Given the description of an element on the screen output the (x, y) to click on. 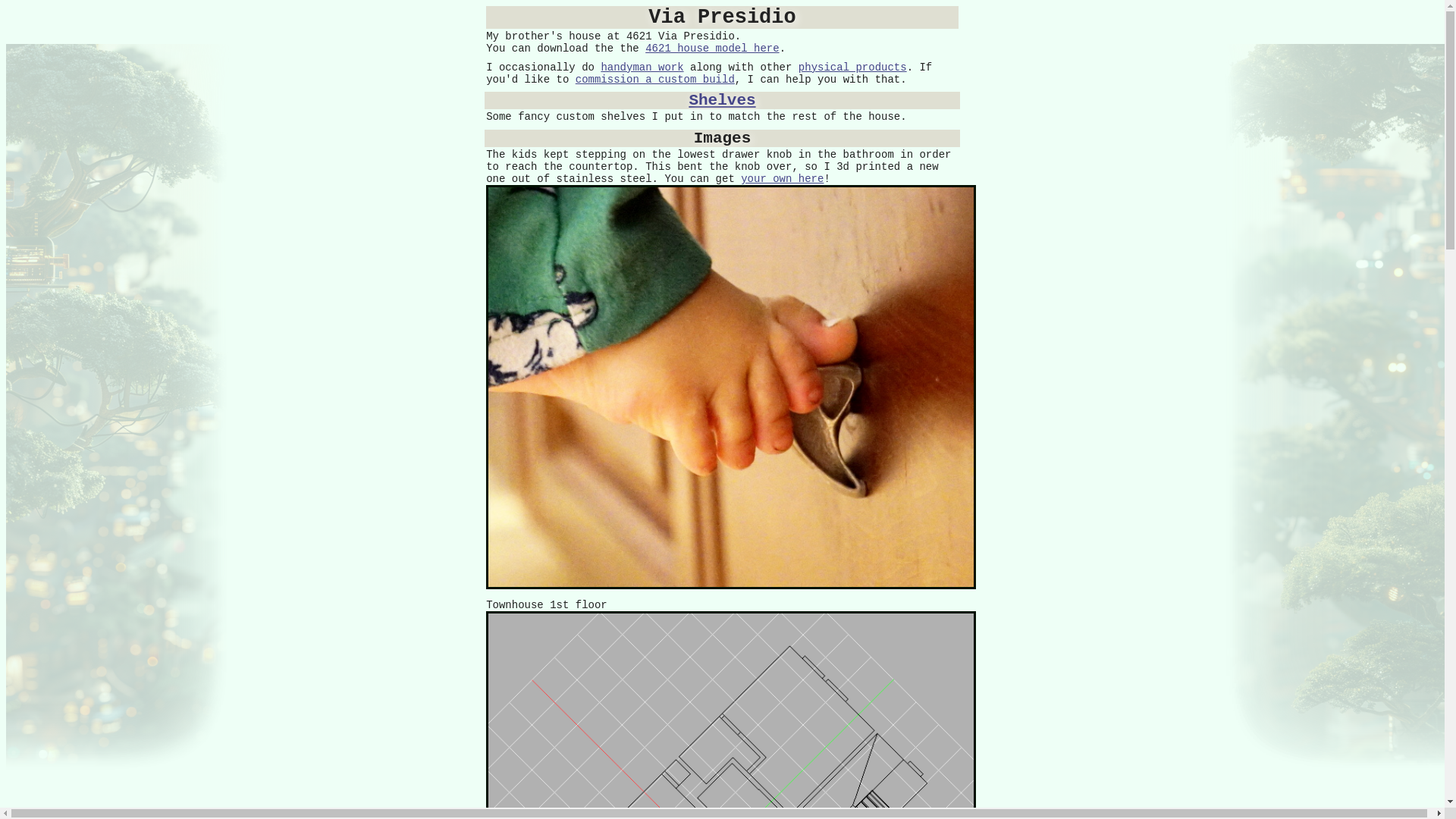
physical products (852, 67)
4621 house model here (711, 48)
commission a custom build (655, 79)
your own here (782, 178)
Shelves (721, 99)
Floorplan, lvl 1 (730, 714)
handyman work (640, 67)
